Given the description of an element on the screen output the (x, y) to click on. 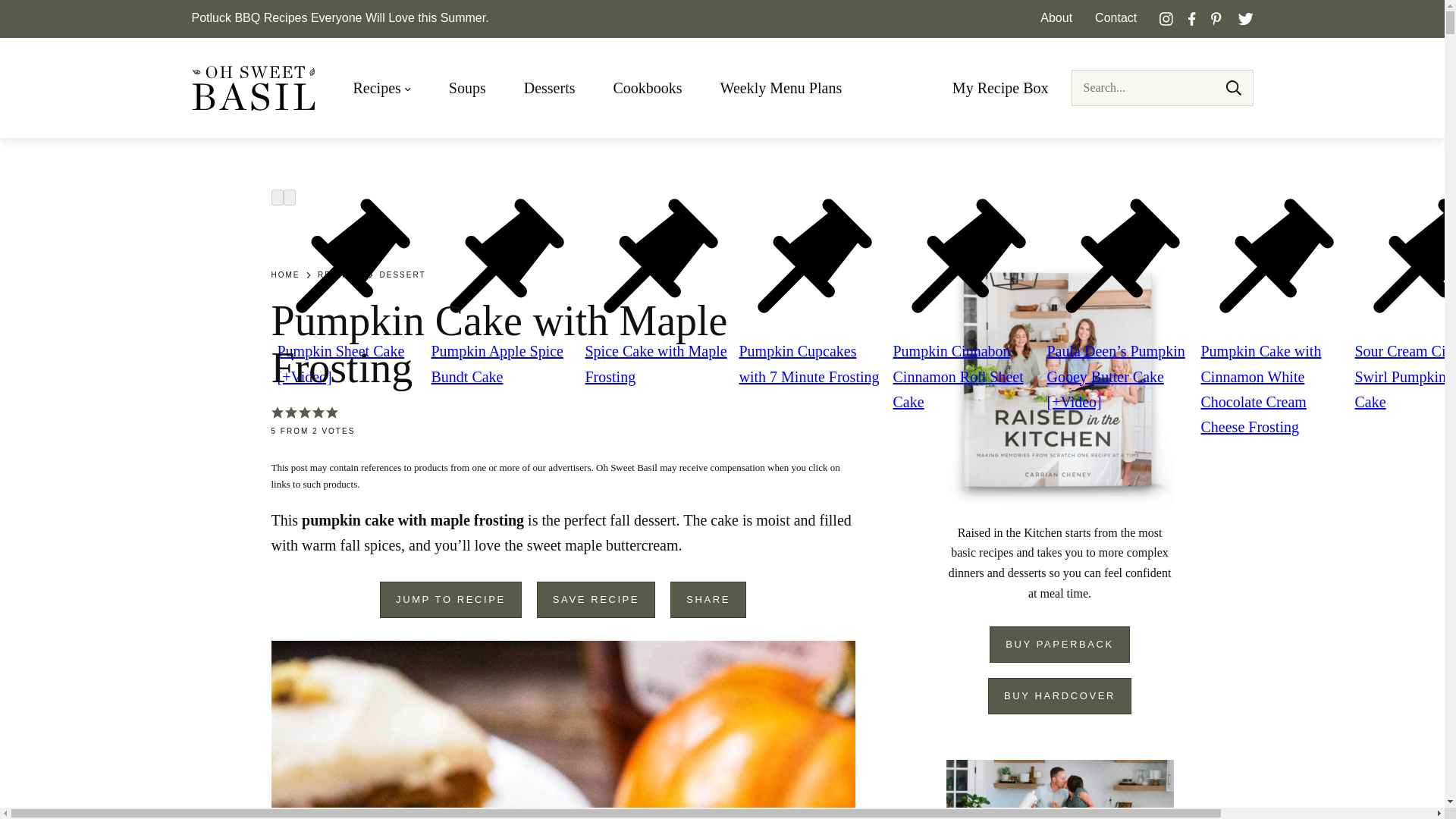
Contact (1115, 17)
Instagram (1165, 18)
Pinterest (1216, 18)
Recipes (381, 87)
Instagram (1165, 18)
Facebook (1192, 18)
Pinterest (1216, 18)
About (1056, 17)
Twitter (1245, 18)
Search (1232, 87)
Facebook (1192, 18)
Twitter (1245, 18)
Potluck BBQ Recipes Everyone Will Love this Summer. (338, 17)
